Given the description of an element on the screen output the (x, y) to click on. 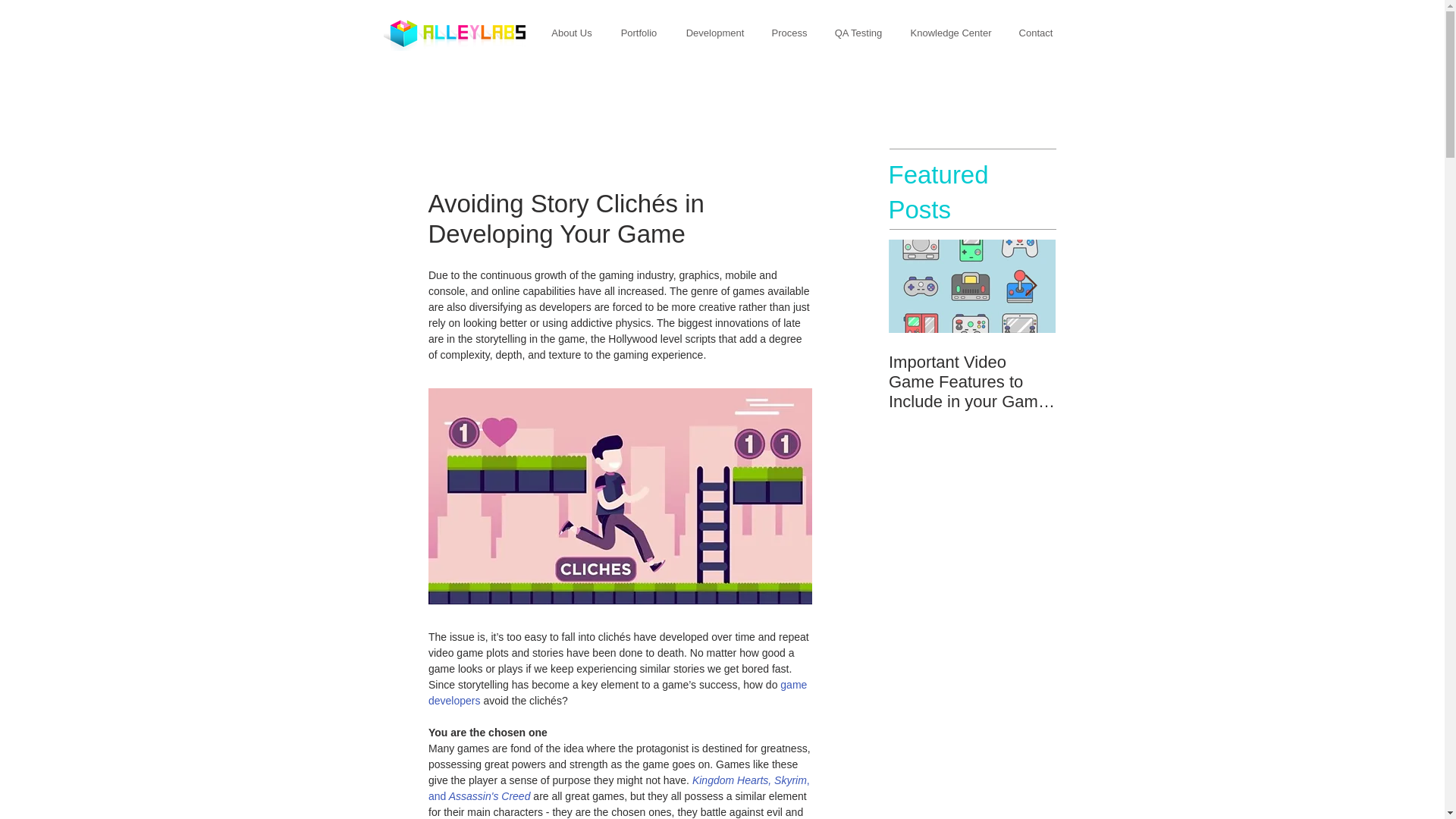
Portfolio (639, 32)
, and (620, 787)
Kingdom Hearts, Skyrim (748, 779)
Development (714, 32)
QA Testing (858, 32)
Process (788, 32)
Contact (1036, 32)
 Assassin's Creed (487, 796)
About Us (571, 32)
game developers (618, 692)
